Given the description of an element on the screen output the (x, y) to click on. 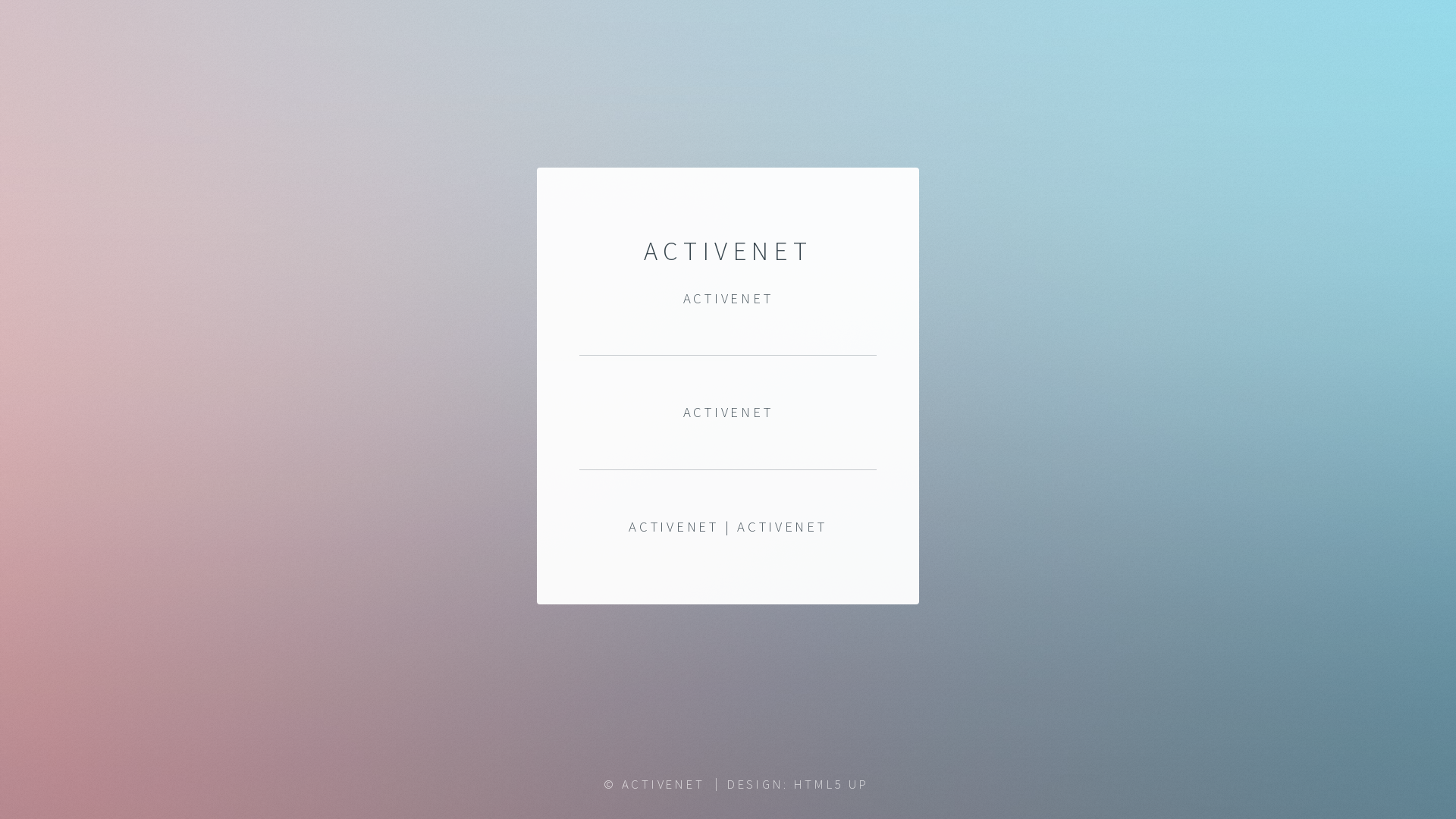
HTML5 UP Element type: text (831, 783)
